Given the description of an element on the screen output the (x, y) to click on. 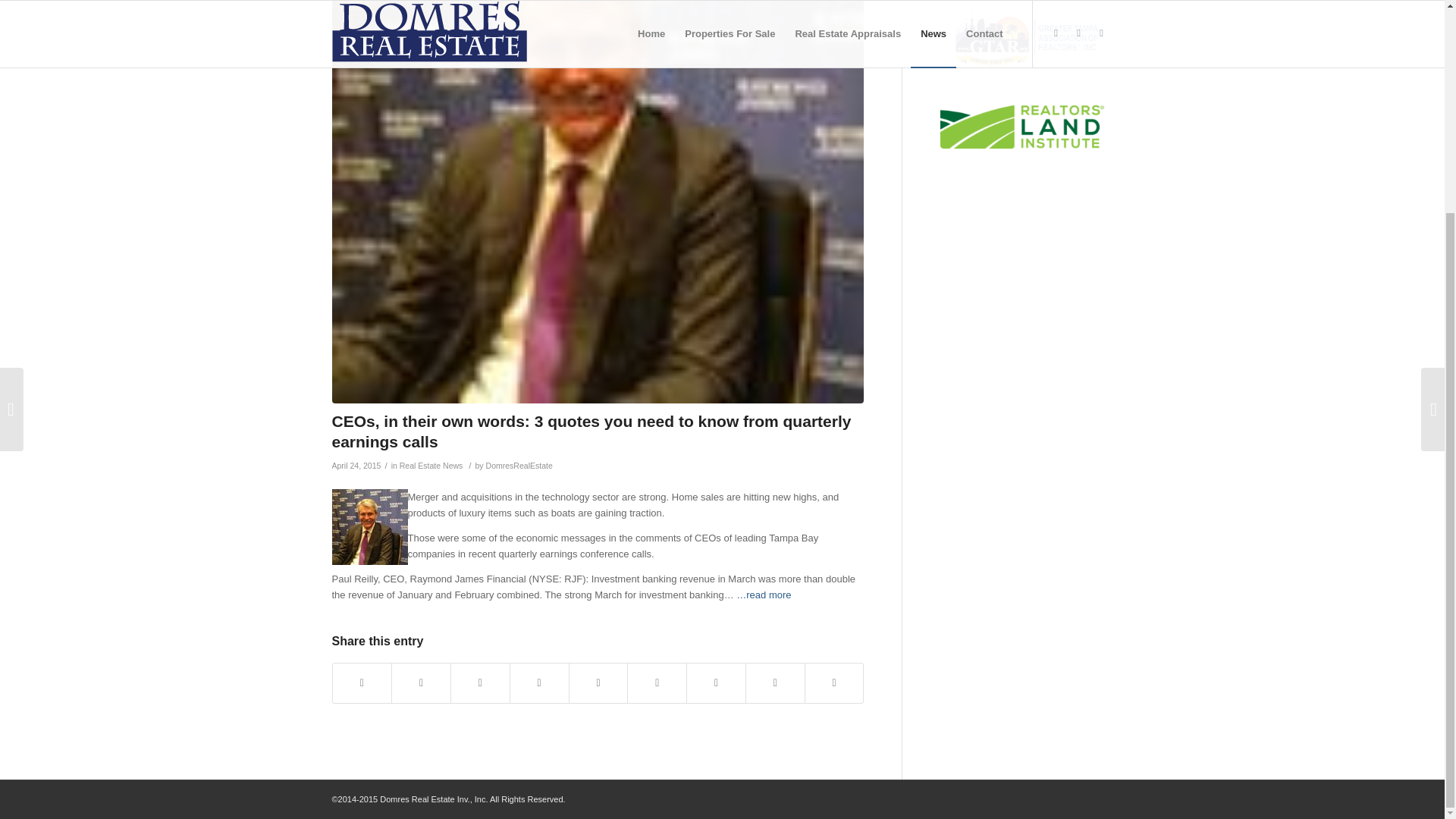
DomresRealEstate (519, 465)
Real Estate News (430, 465)
Posts by DomresRealEstate (519, 465)
